Given the description of an element on the screen output the (x, y) to click on. 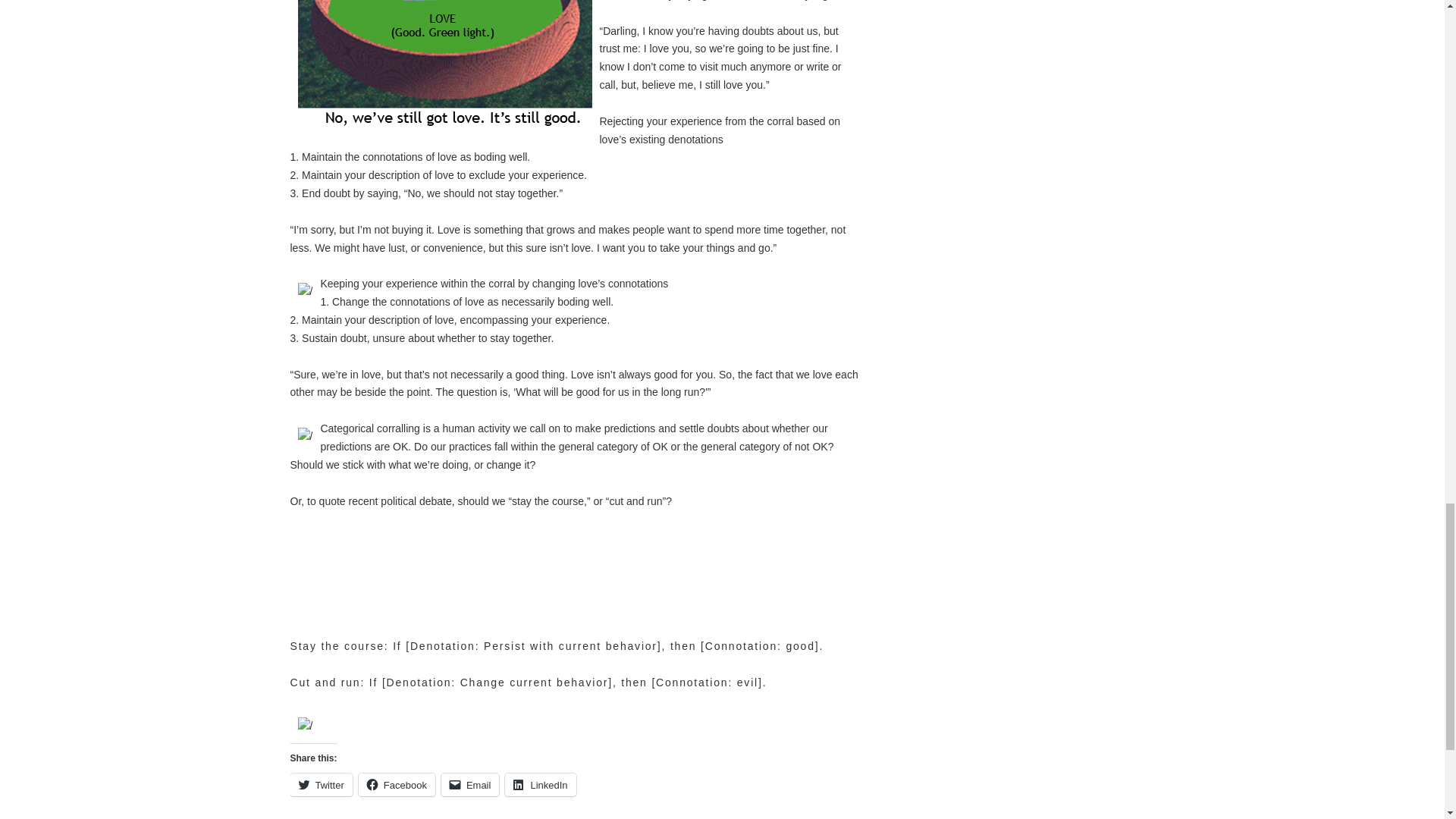
Email (470, 784)
Click to email a link to a friend (470, 784)
LinkedIn (540, 784)
Twitter (320, 784)
Facebook (396, 784)
Click to share on Facebook (396, 784)
Click to share on Twitter (320, 784)
Click to share on LinkedIn (540, 784)
